Given the description of an element on the screen output the (x, y) to click on. 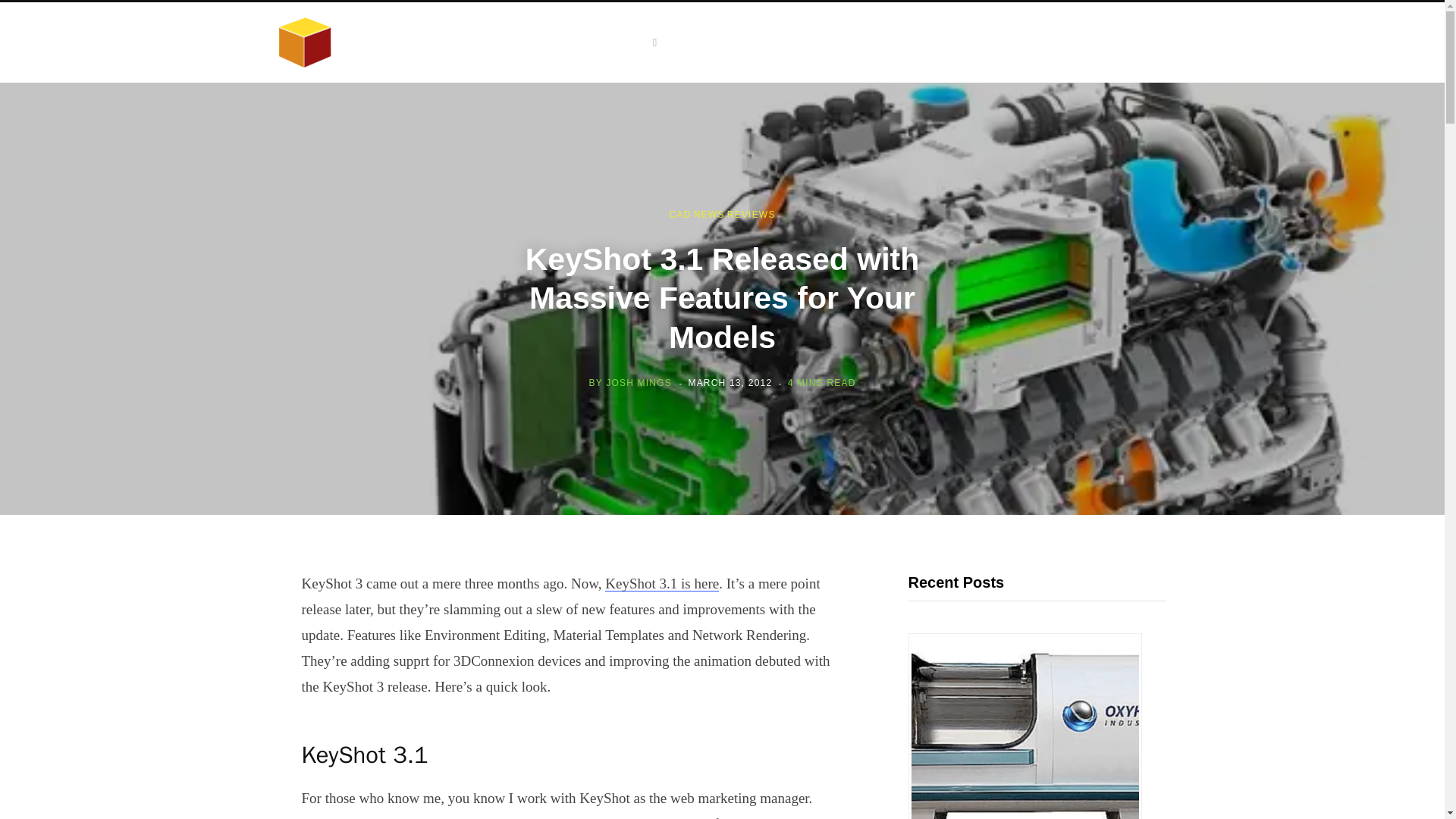
Posts by Josh Mings (638, 382)
SolidSmack (423, 42)
REVIEWS (751, 214)
NEWS (709, 214)
JOSH MINGS (638, 382)
TOPICS (630, 41)
CAD (679, 214)
KeyShot 3.1 is here (662, 583)
